Given the description of an element on the screen output the (x, y) to click on. 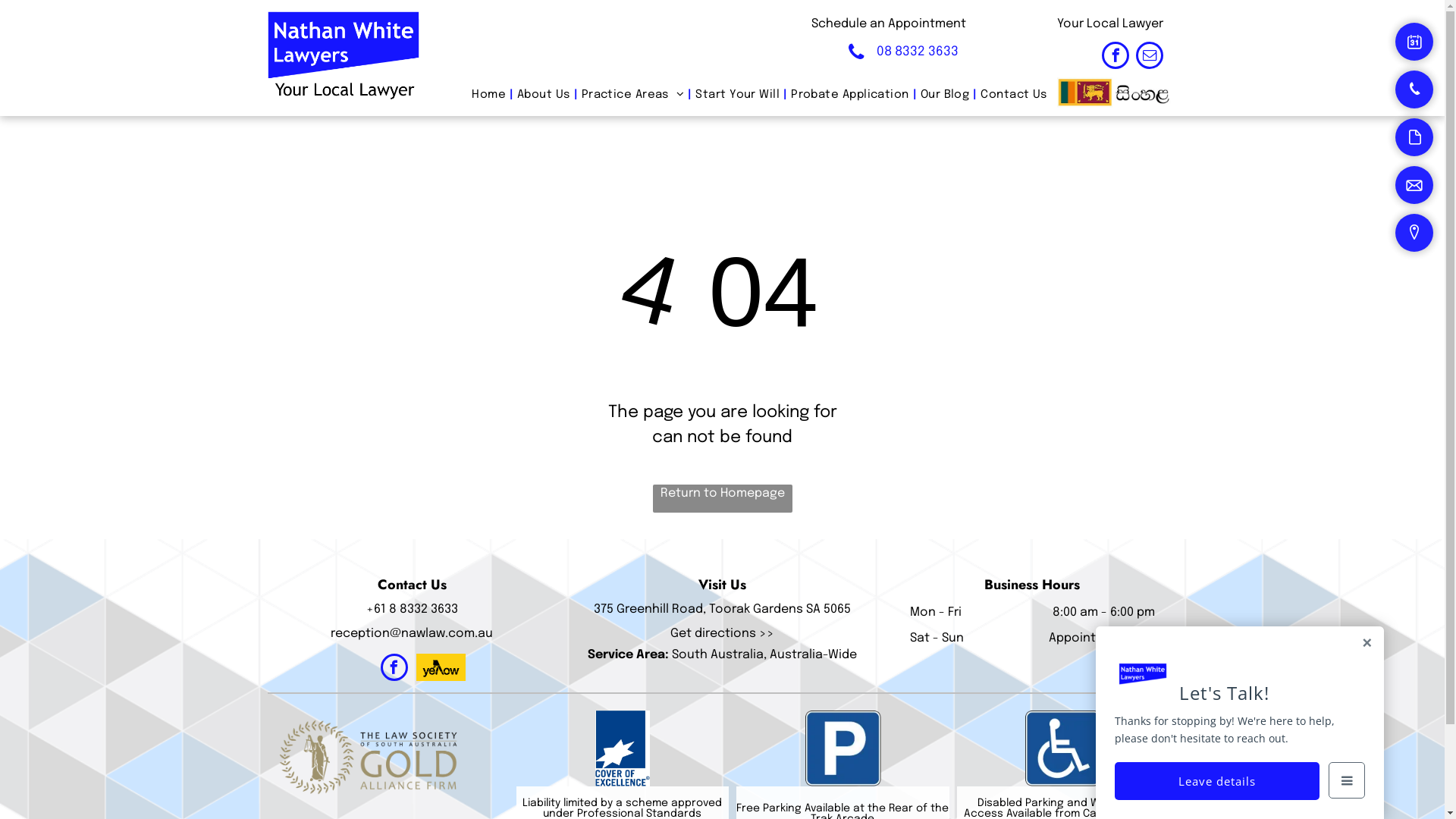
08 8332 3633 Element type: text (907, 51)
Probate Application Element type: text (850, 94)
Practice Areas Element type: text (632, 94)
8 8332 3633 Element type: text (423, 608)
Contact Us Element type: text (1013, 94)
Return to Homepage Element type: text (721, 498)
reception@nawlaw.com.au Element type: text (411, 633)
Our Blog Element type: text (944, 94)
About Us Element type: text (543, 94)
Home Element type: text (488, 94)
Start Your Will Element type: text (737, 94)
Leave details Element type: text (1216, 781)
Get directions >> Element type: text (722, 633)
